Given the description of an element on the screen output the (x, y) to click on. 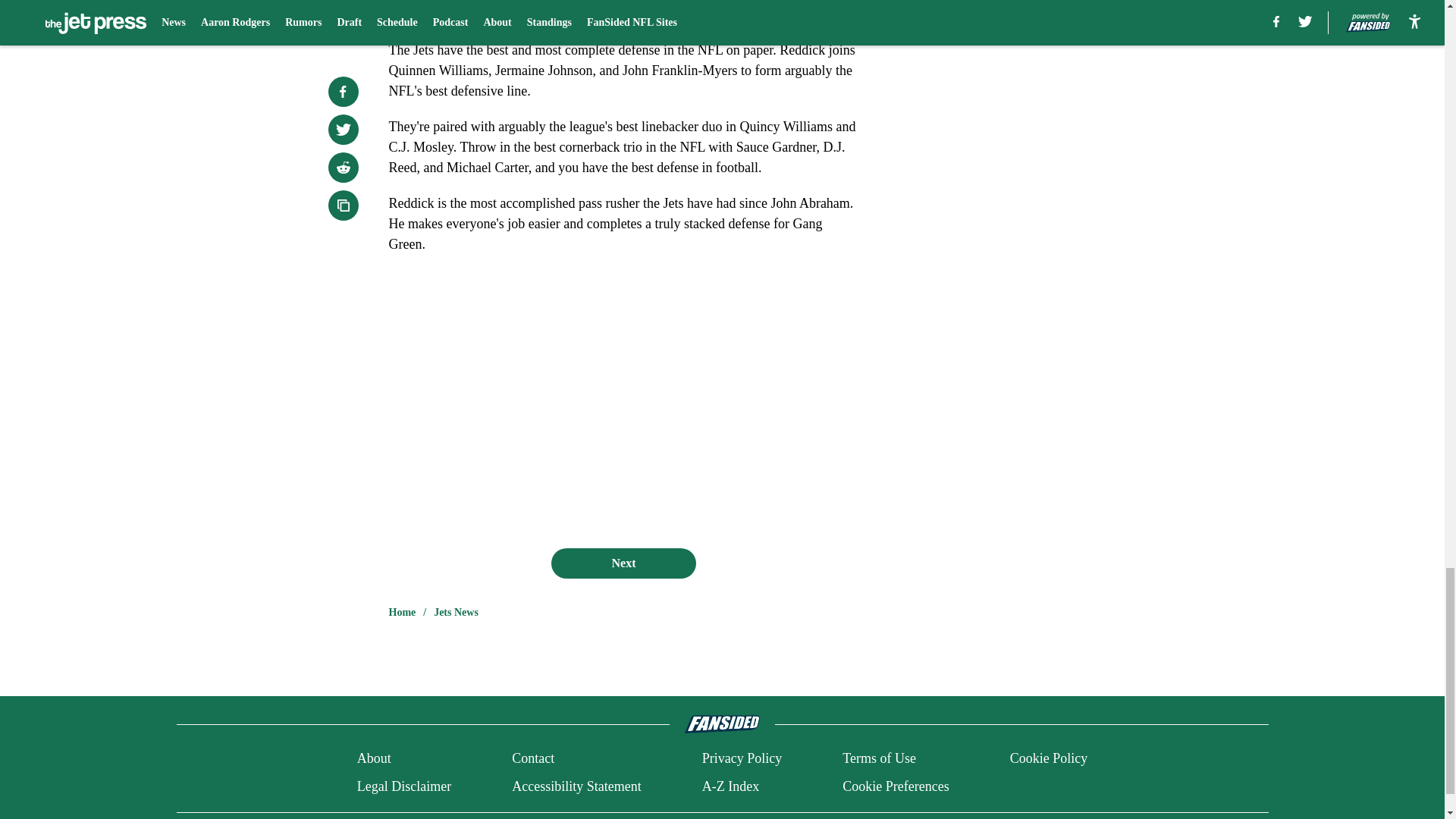
A-Z Index (729, 786)
Jets News (456, 612)
Home (401, 612)
Next (622, 562)
Privacy Policy (742, 758)
Contact (533, 758)
Cookie Policy (1048, 758)
Terms of Use (879, 758)
Cookie Preferences (896, 786)
Accessibility Statement (576, 786)
